Given the description of an element on the screen output the (x, y) to click on. 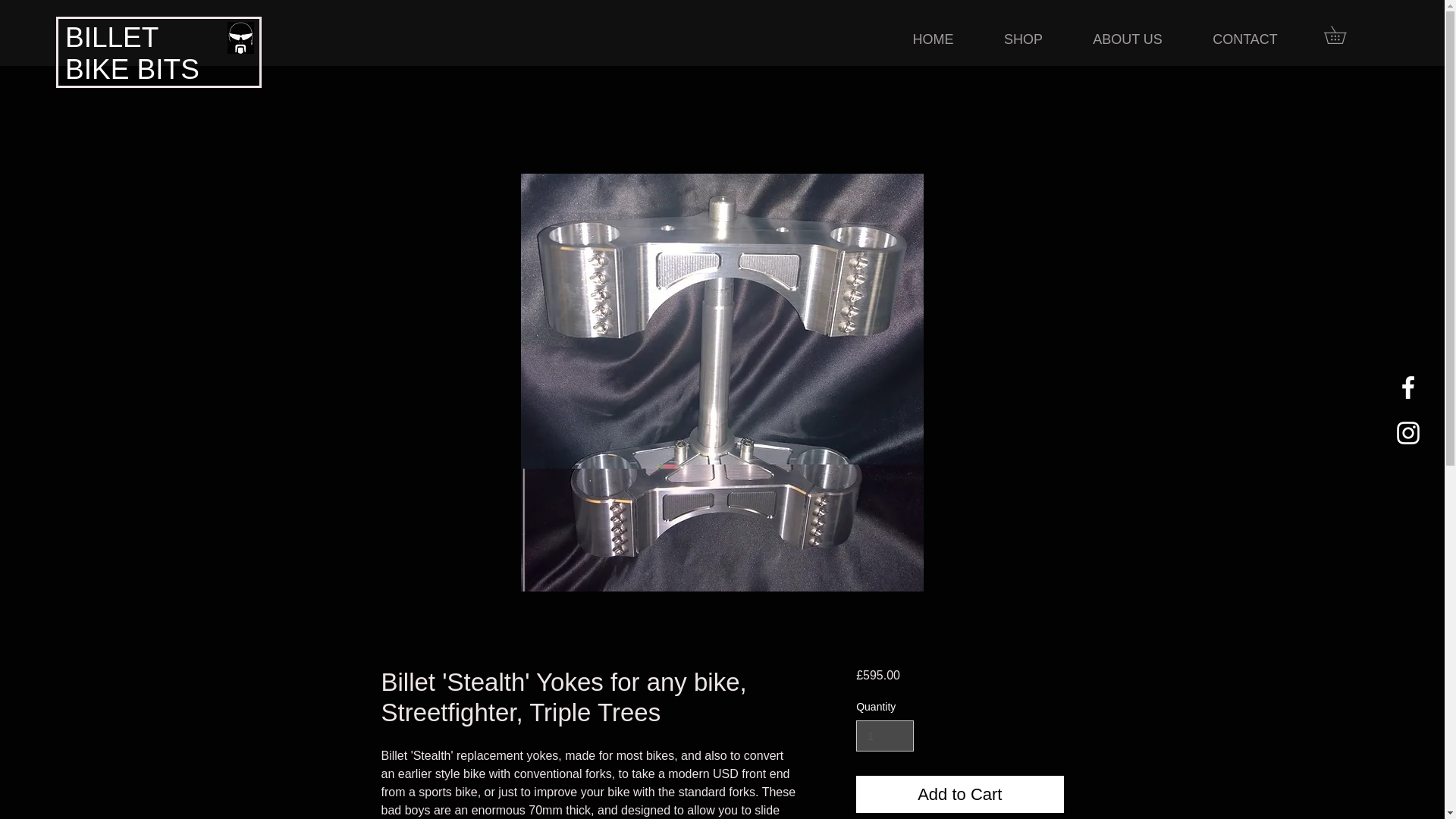
1 (885, 735)
Add to Cart (959, 794)
ABOUT US (1127, 39)
BILLET BIKE BITS (132, 53)
CONTACT (1245, 39)
HOME (932, 39)
SHOP (1022, 39)
